Given the description of an element on the screen output the (x, y) to click on. 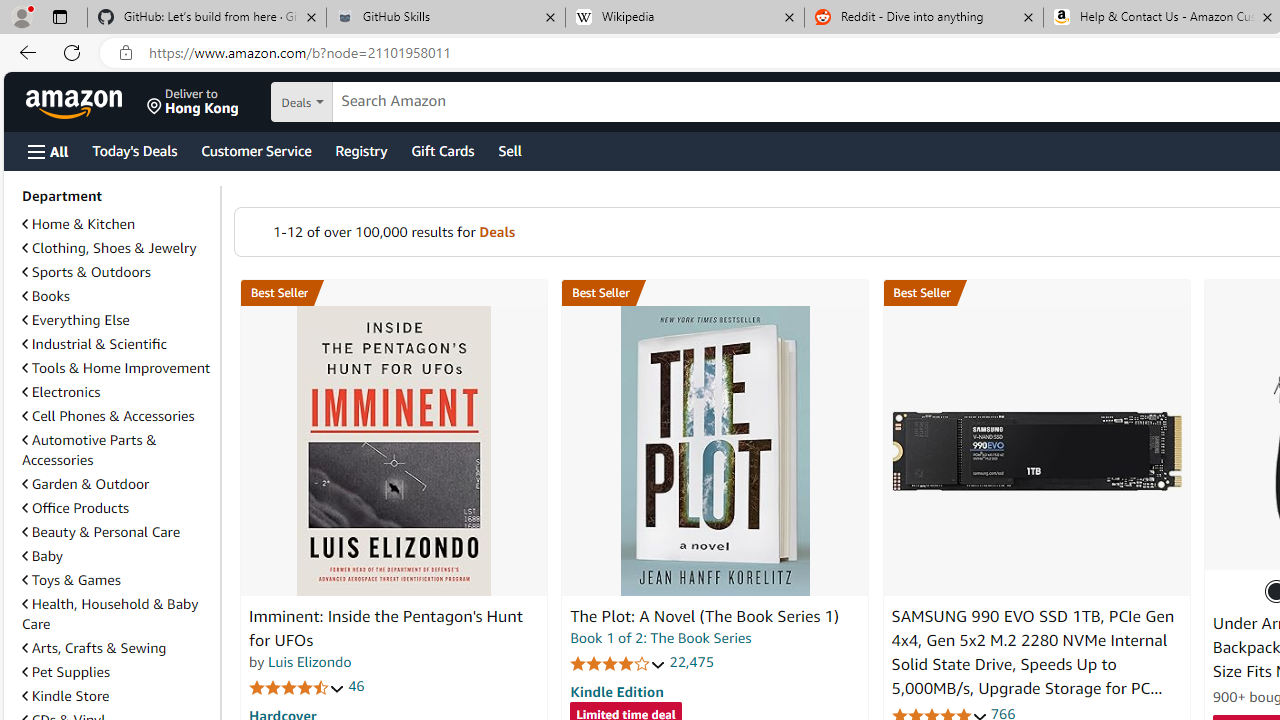
View site information (125, 53)
Baby (117, 555)
Arts, Crafts & Sewing (117, 647)
Sports & Outdoors (86, 271)
GitHub Skills (445, 17)
Toys & Games (117, 579)
Kindle Store (117, 696)
Tools & Home Improvement (116, 368)
Sell (509, 150)
Back (24, 52)
46 (356, 686)
4.7 out of 5 stars (297, 686)
Skip to main content (86, 100)
Sports & Outdoors (117, 272)
Beauty & Personal Care (100, 531)
